Given the description of an element on the screen output the (x, y) to click on. 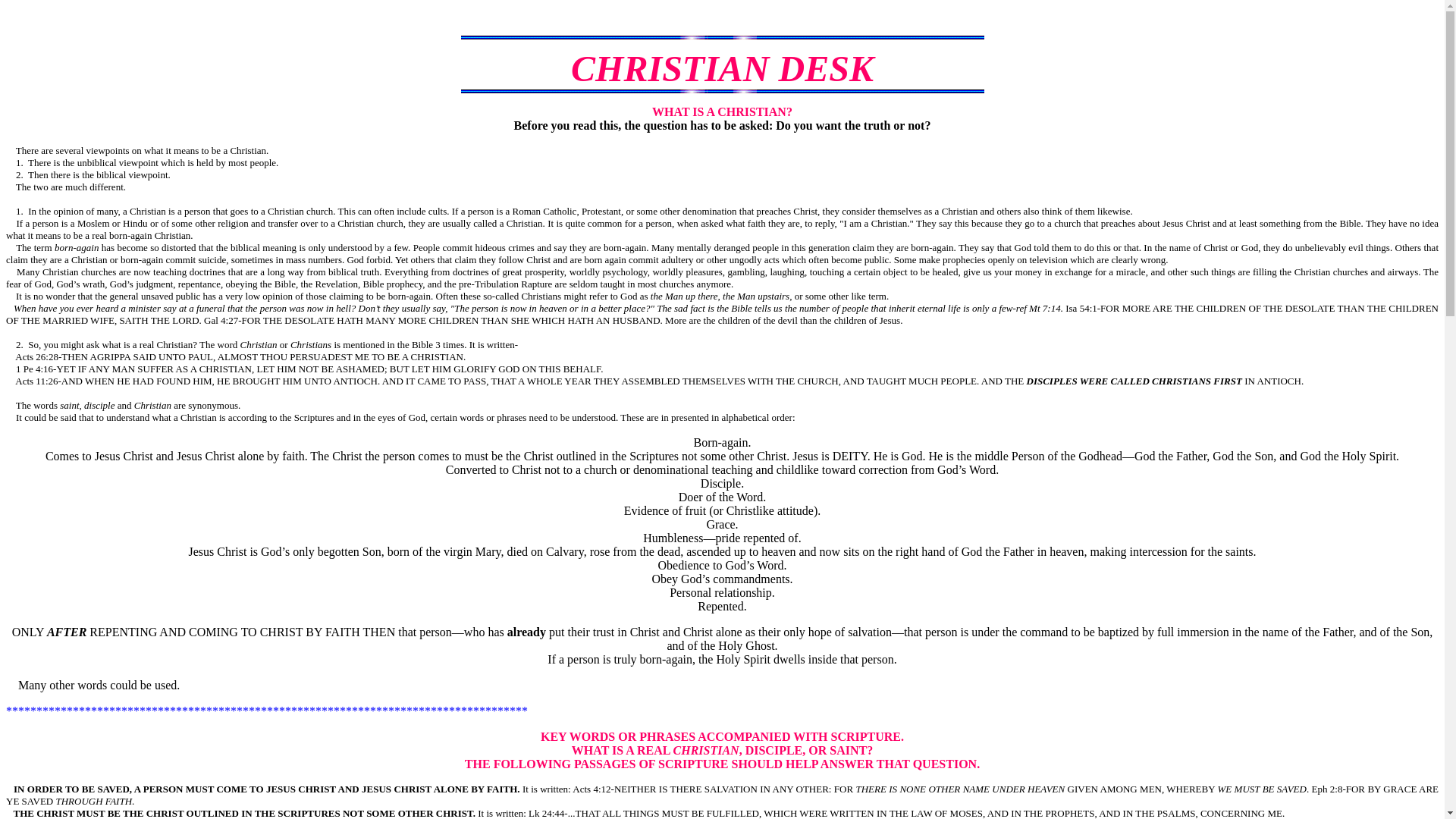
CHRISTIAN DESK (721, 68)
